Given the description of an element on the screen output the (x, y) to click on. 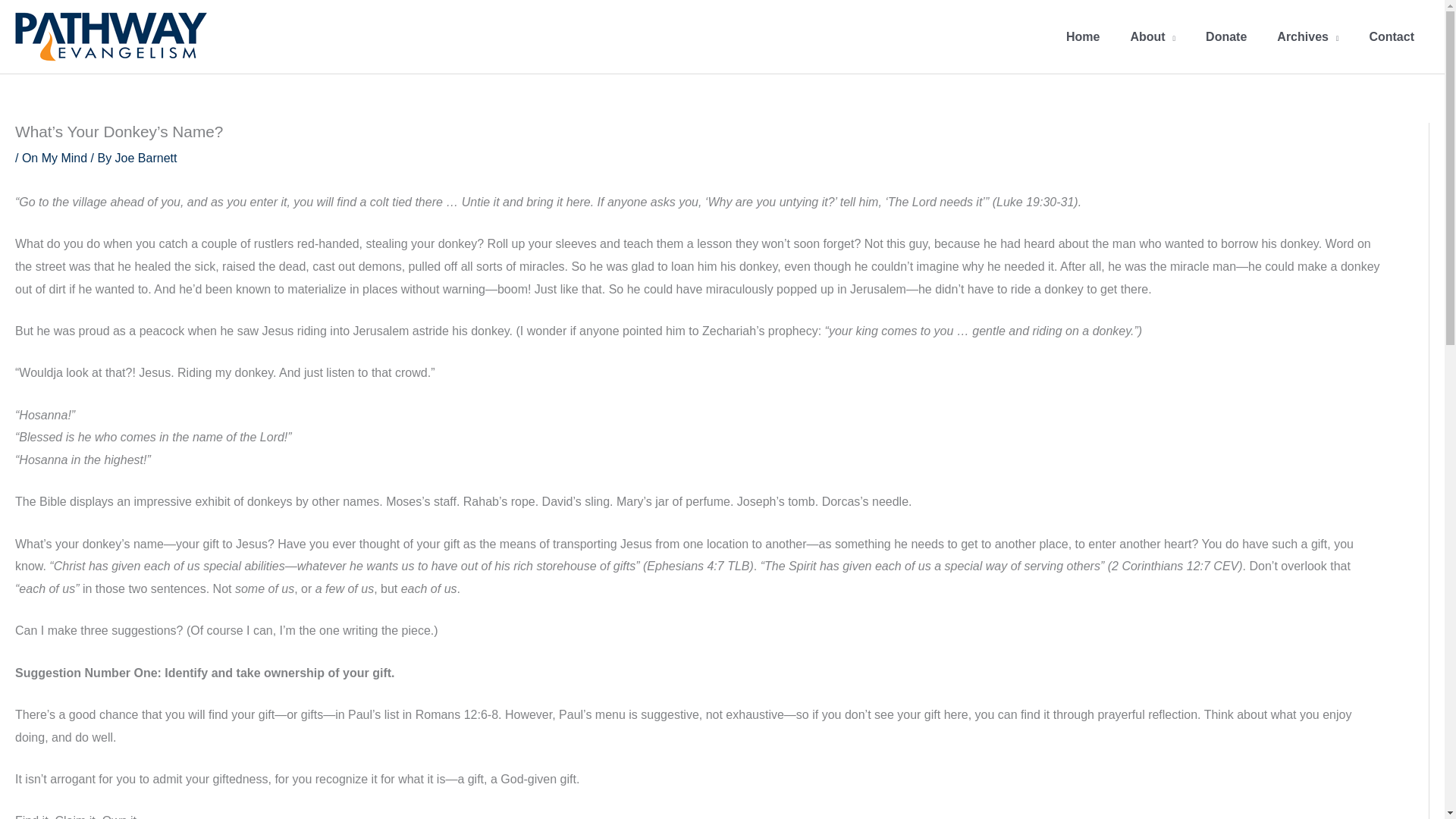
Home (1083, 36)
Donate (1226, 36)
Contact (1391, 36)
View all posts by Joe Barnett (146, 157)
About (1153, 36)
Joe Barnett (146, 157)
Archives (1308, 36)
On My Mind (54, 157)
